Given the description of an element on the screen output the (x, y) to click on. 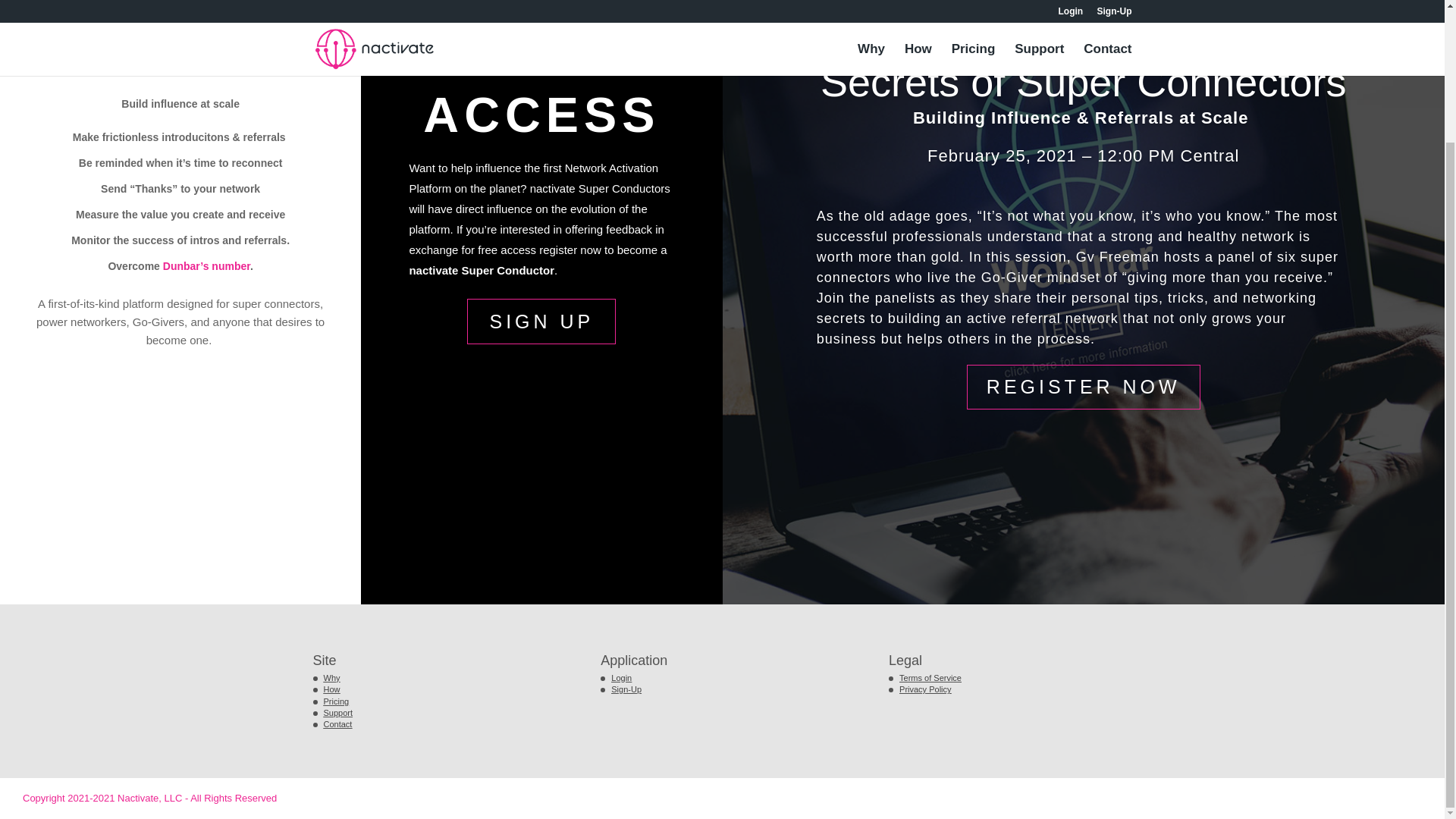
How (331, 688)
Terms of Service (929, 677)
Pricing (336, 700)
Why (331, 677)
ACTIVATE YOUR NETWORK (180, 56)
Privacy Policy (924, 688)
Contact (337, 723)
SIGN UP (541, 320)
Login (621, 677)
Sign-Up (626, 688)
Support (337, 712)
